Given the description of an element on the screen output the (x, y) to click on. 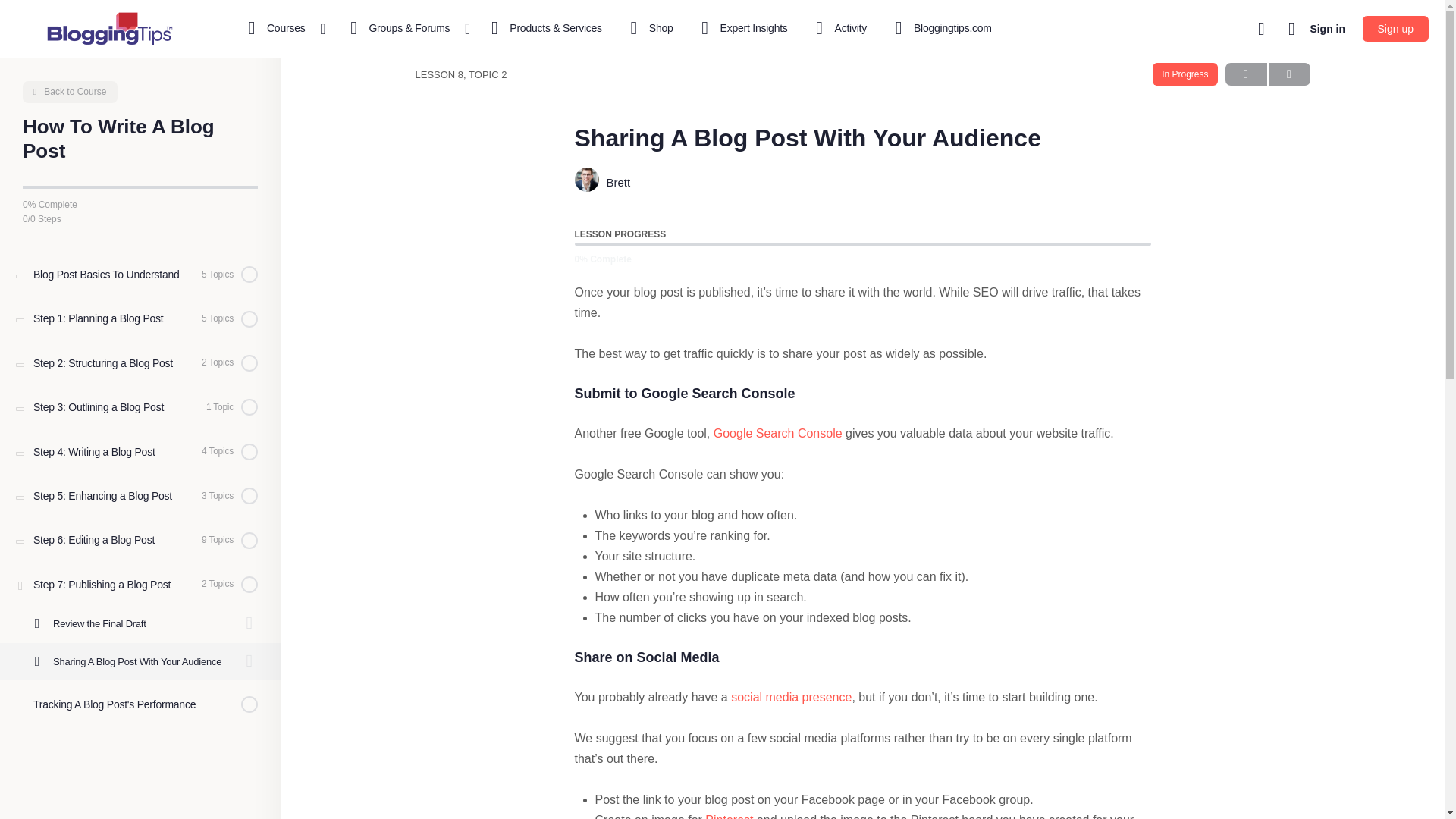
Sign up (1395, 28)
Step 4: Writing a Blog Post (140, 451)
Expert Insights (741, 28)
Step 3: Outlining a Blog Post (140, 406)
Activity (839, 28)
Courses (279, 28)
Sign in (1327, 28)
Shop (649, 28)
Blog Post Basics To Understand (140, 274)
Bloggingtips.com (940, 28)
How To Write A Blog Post (70, 92)
Step 2: Structuring a Blog Post (140, 363)
Step 1: Planning a Blog Post (140, 318)
